Given the description of an element on the screen output the (x, y) to click on. 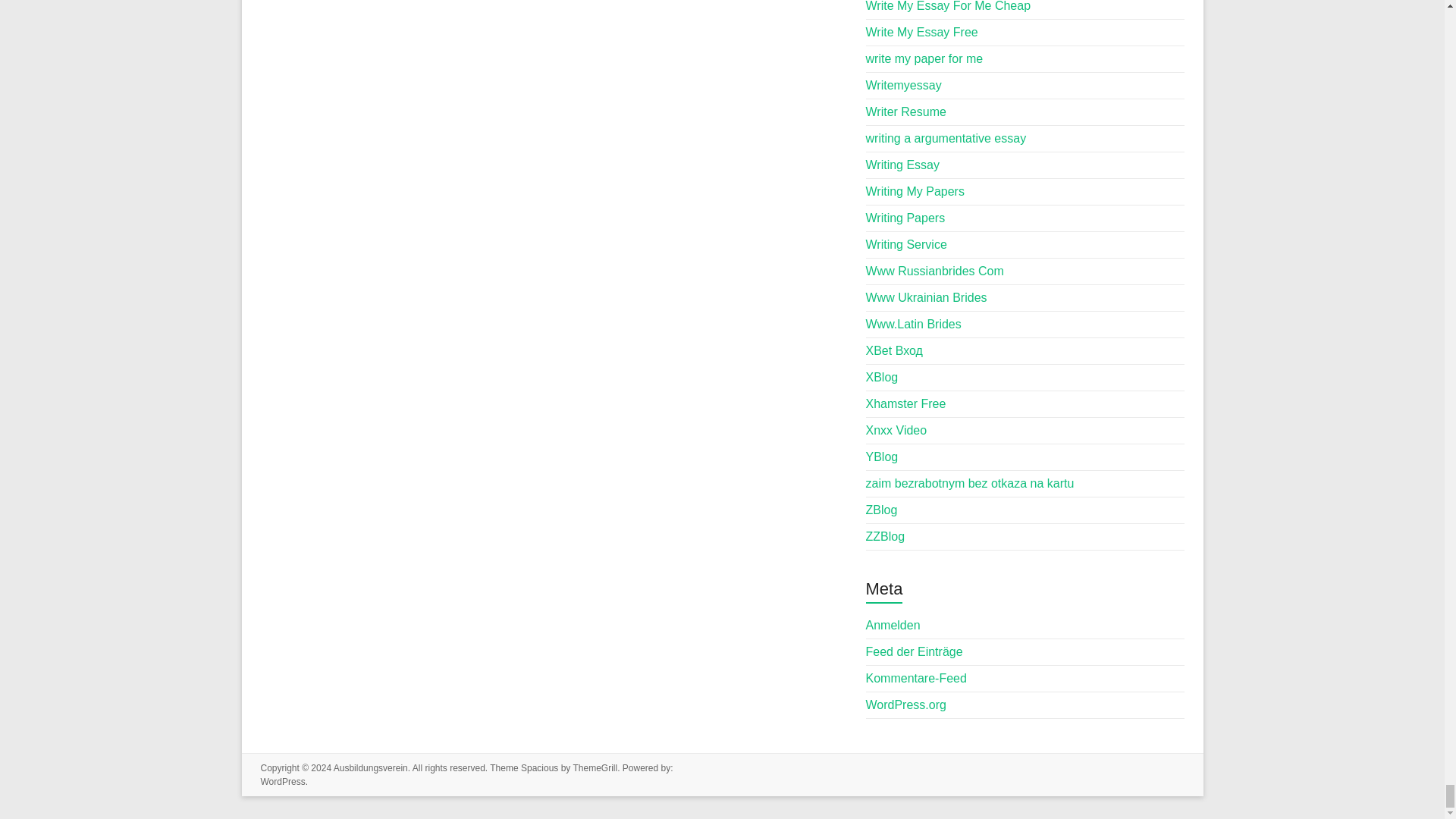
Ausbildungsverein (370, 767)
WordPress (282, 781)
Spacious (539, 767)
